Given the description of an element on the screen output the (x, y) to click on. 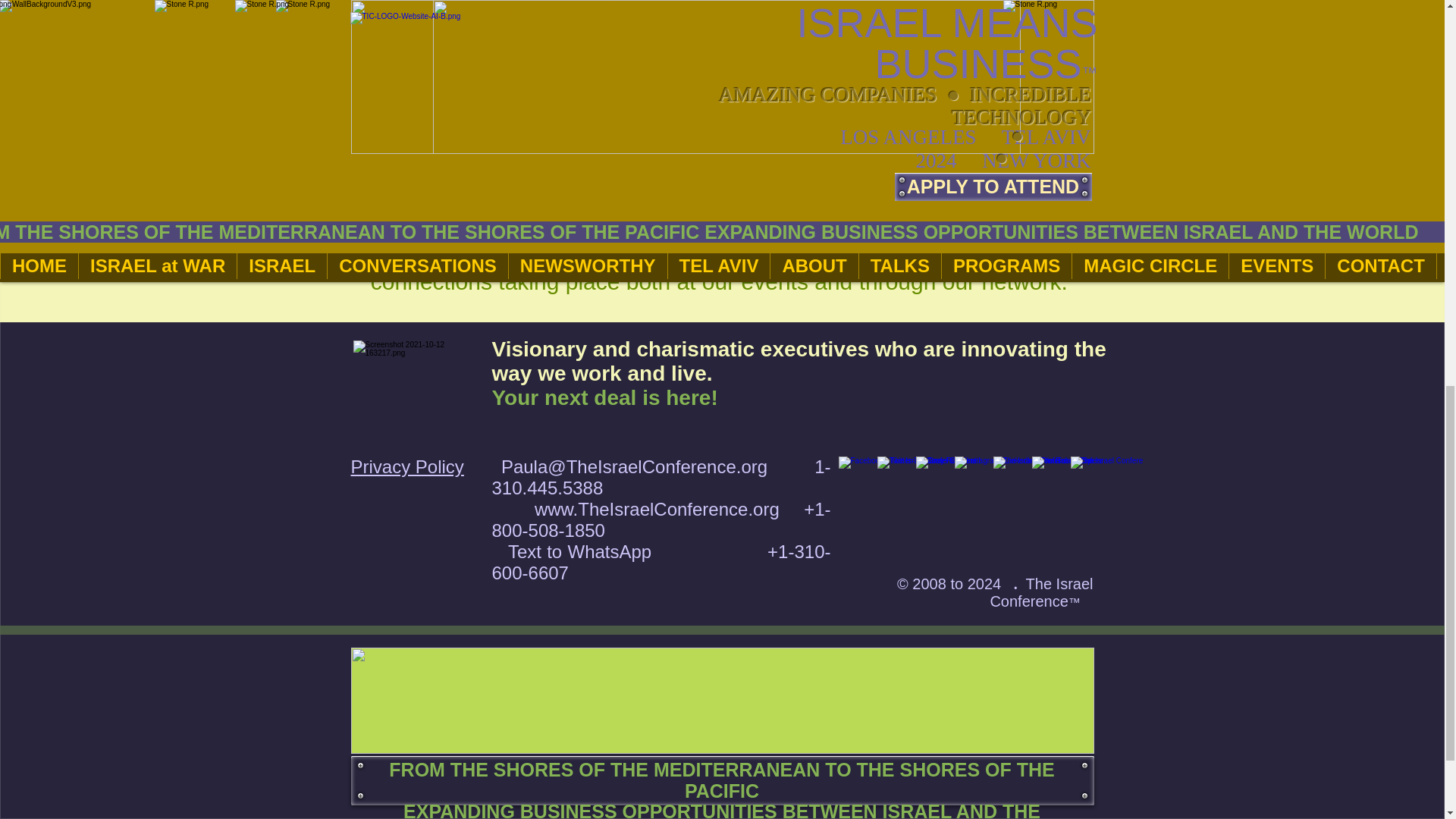
Privacy Policy (406, 466)
Send (974, 175)
www.TheIsraelConference.org (656, 508)
